Given the description of an element on the screen output the (x, y) to click on. 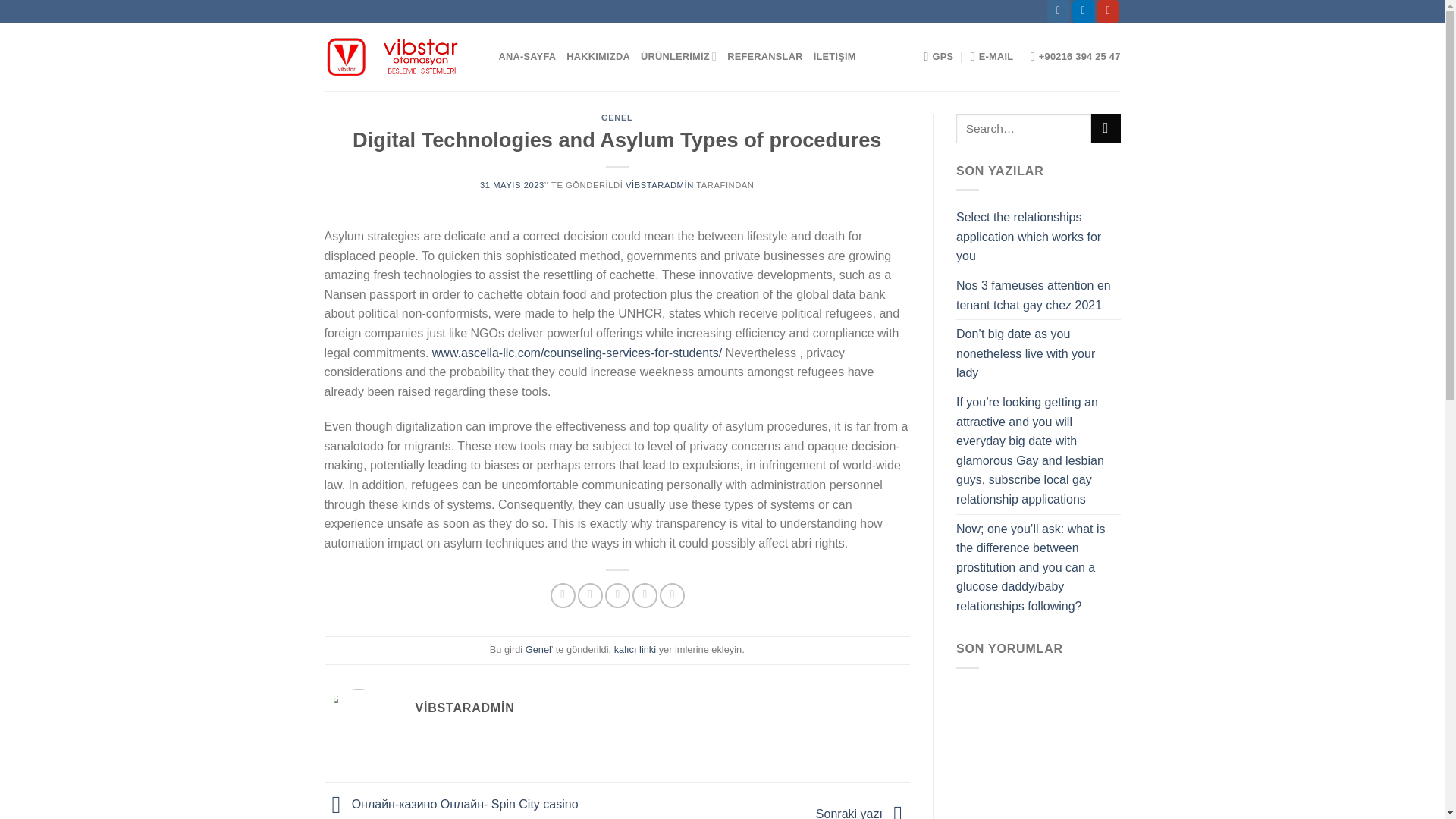
VIBSTARADMIN (660, 184)
E-MAIL (992, 56)
Share on LinkedIn (671, 595)
REFERANSLAR (764, 56)
31 MAYIS 2023 (512, 184)
Youtube' ta Takip Edin (1107, 11)
40.882792, 29.345672 (938, 56)
Follow on LinkedIn (1082, 11)
GPS (938, 56)
Instagram' da Takip Edin (1058, 11)
ANA-SAYFA (527, 56)
Genel (538, 649)
HAKKIMIZDA (598, 56)
GENEL (616, 117)
